Given the description of an element on the screen output the (x, y) to click on. 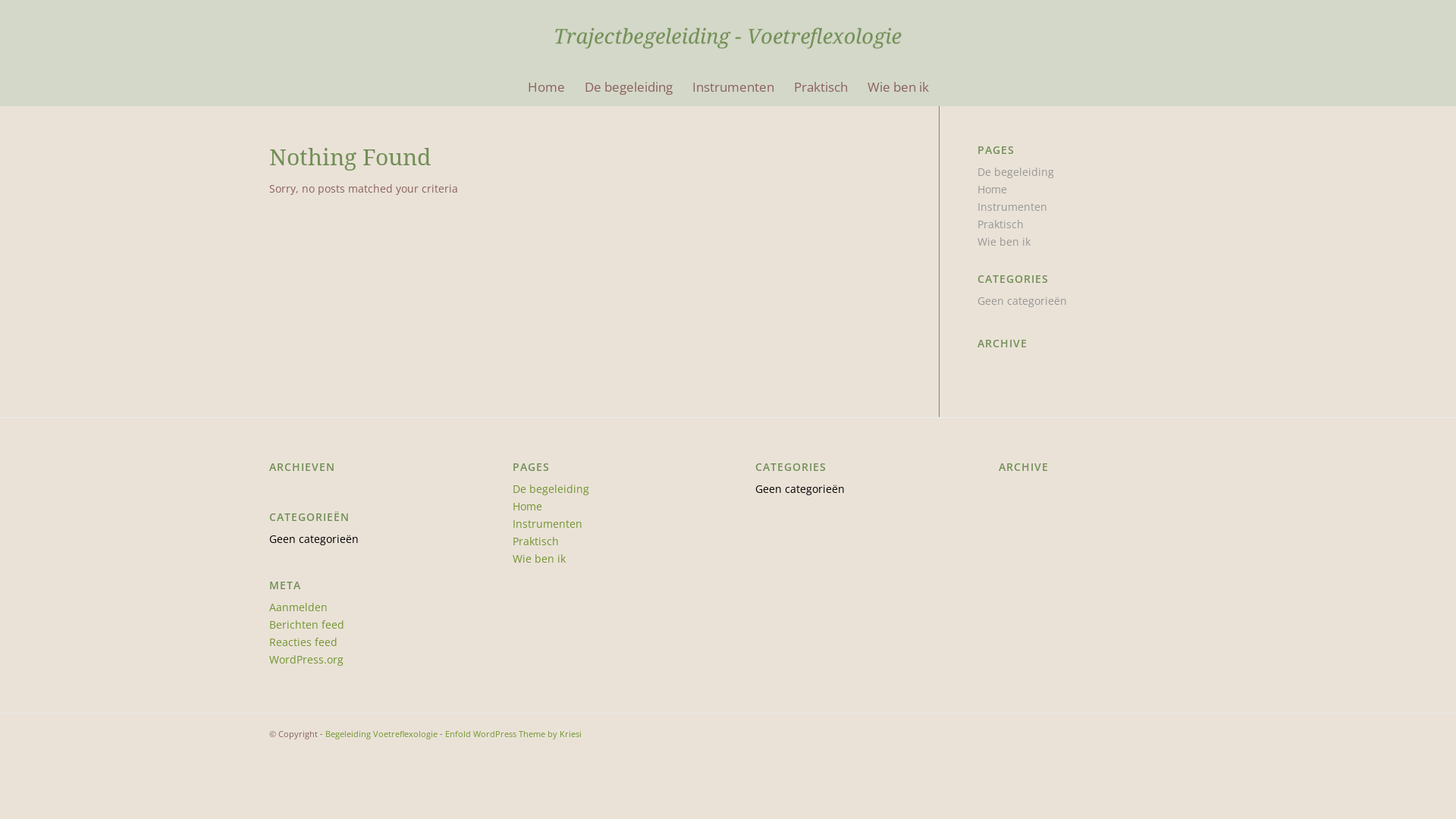
Instrumenten Element type: text (547, 523)
Berichten feed Element type: text (306, 624)
Reacties feed Element type: text (303, 641)
Praktisch Element type: text (820, 87)
De begeleiding Element type: text (550, 488)
Instrumenten Element type: text (1012, 206)
Begeleiding Voetreflexologie Element type: text (381, 733)
Aanmelden Element type: text (298, 606)
De begeleiding Element type: text (1015, 171)
WordPress.org Element type: text (306, 659)
Home Element type: text (545, 87)
Enfold WordPress Theme by Kriesi Element type: text (513, 733)
HeaderLogo2 Element type: hover (727, 33)
De begeleiding Element type: text (628, 87)
Home Element type: text (527, 505)
Home Element type: text (992, 189)
Wie ben ik Element type: text (538, 558)
Praktisch Element type: text (535, 540)
Wie ben ik Element type: text (1003, 241)
Praktisch Element type: text (1000, 223)
Wie ben ik Element type: text (897, 87)
Instrumenten Element type: text (733, 87)
